Given the description of an element on the screen output the (x, y) to click on. 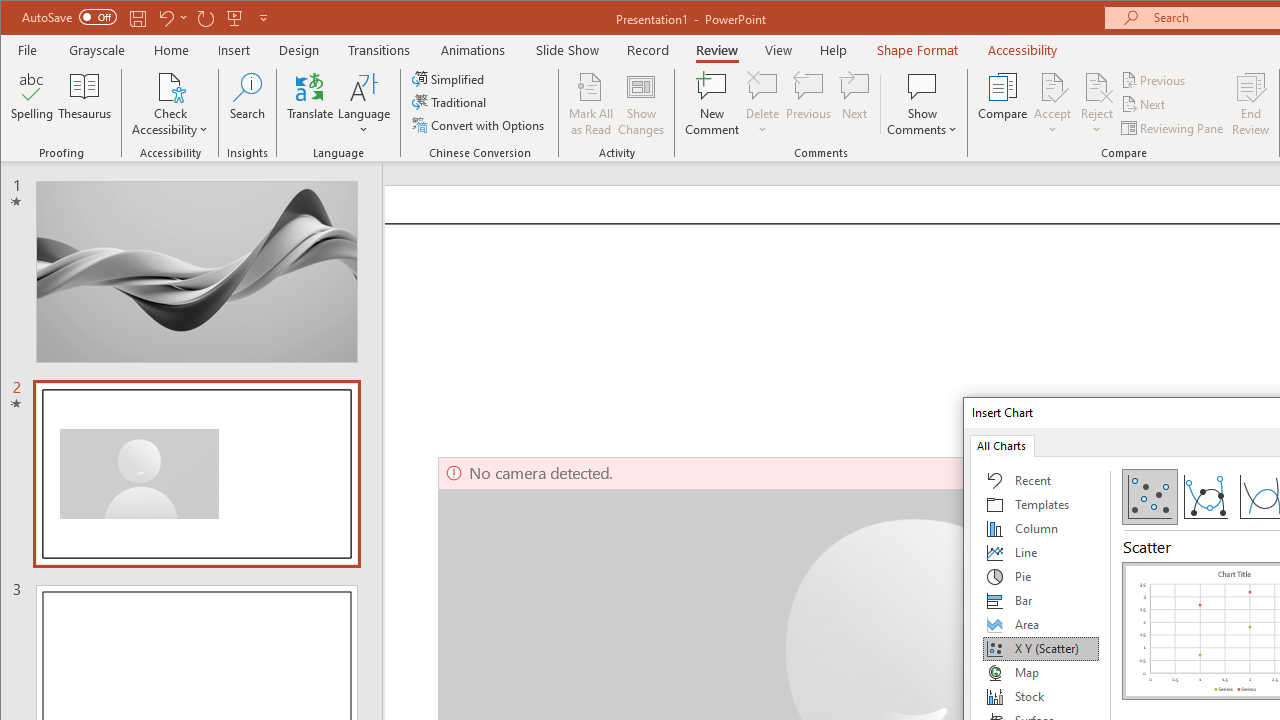
Traditional (450, 101)
Search (247, 104)
Pie (1041, 576)
Slide (197, 473)
New Comment (712, 104)
Convert with Options... (479, 124)
Previous (1154, 80)
Bar (1041, 600)
Show Changes (640, 104)
